Given the description of an element on the screen output the (x, y) to click on. 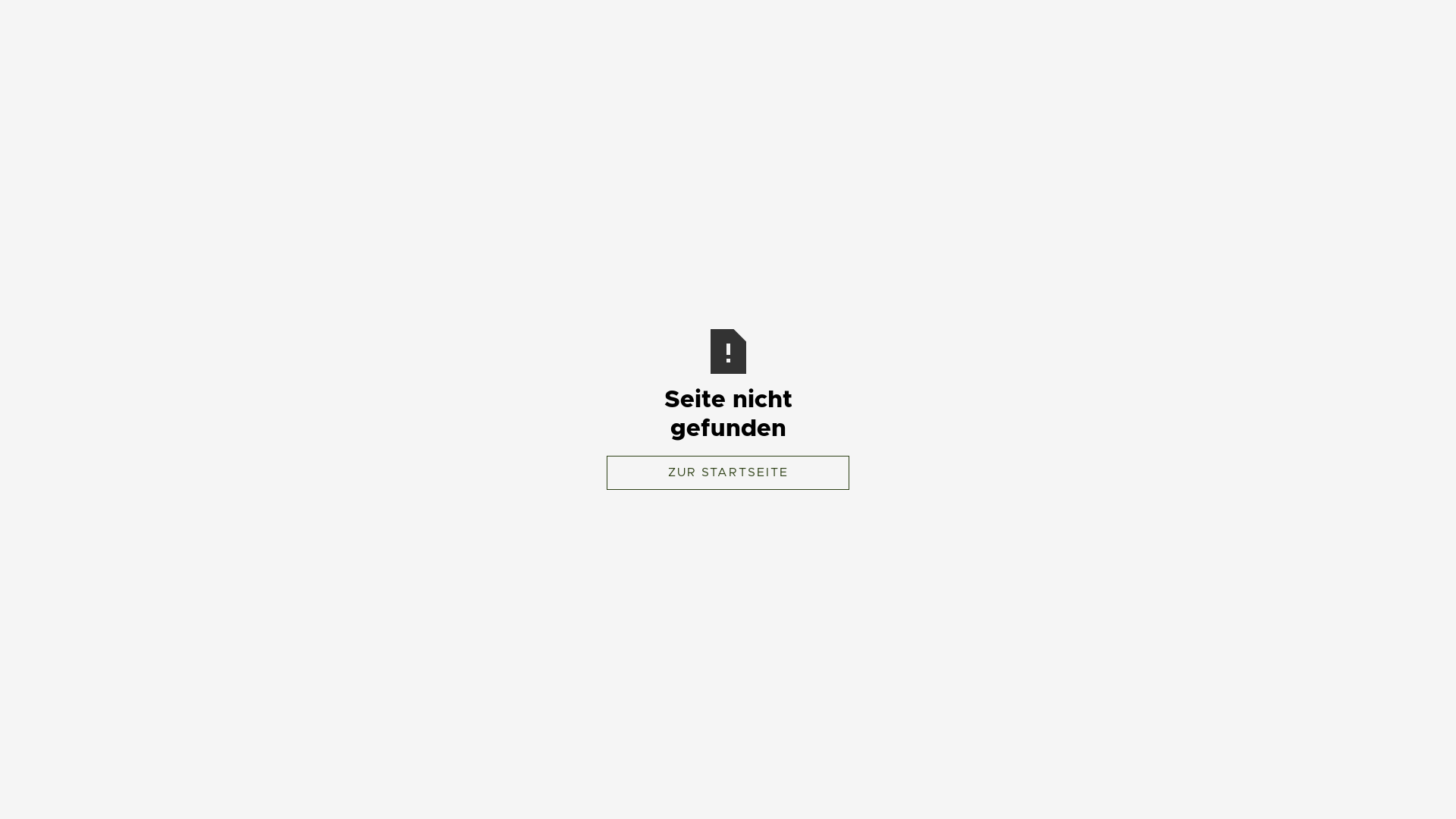
ZUR STARTSEITE Element type: text (727, 472)
